Given the description of an element on the screen output the (x, y) to click on. 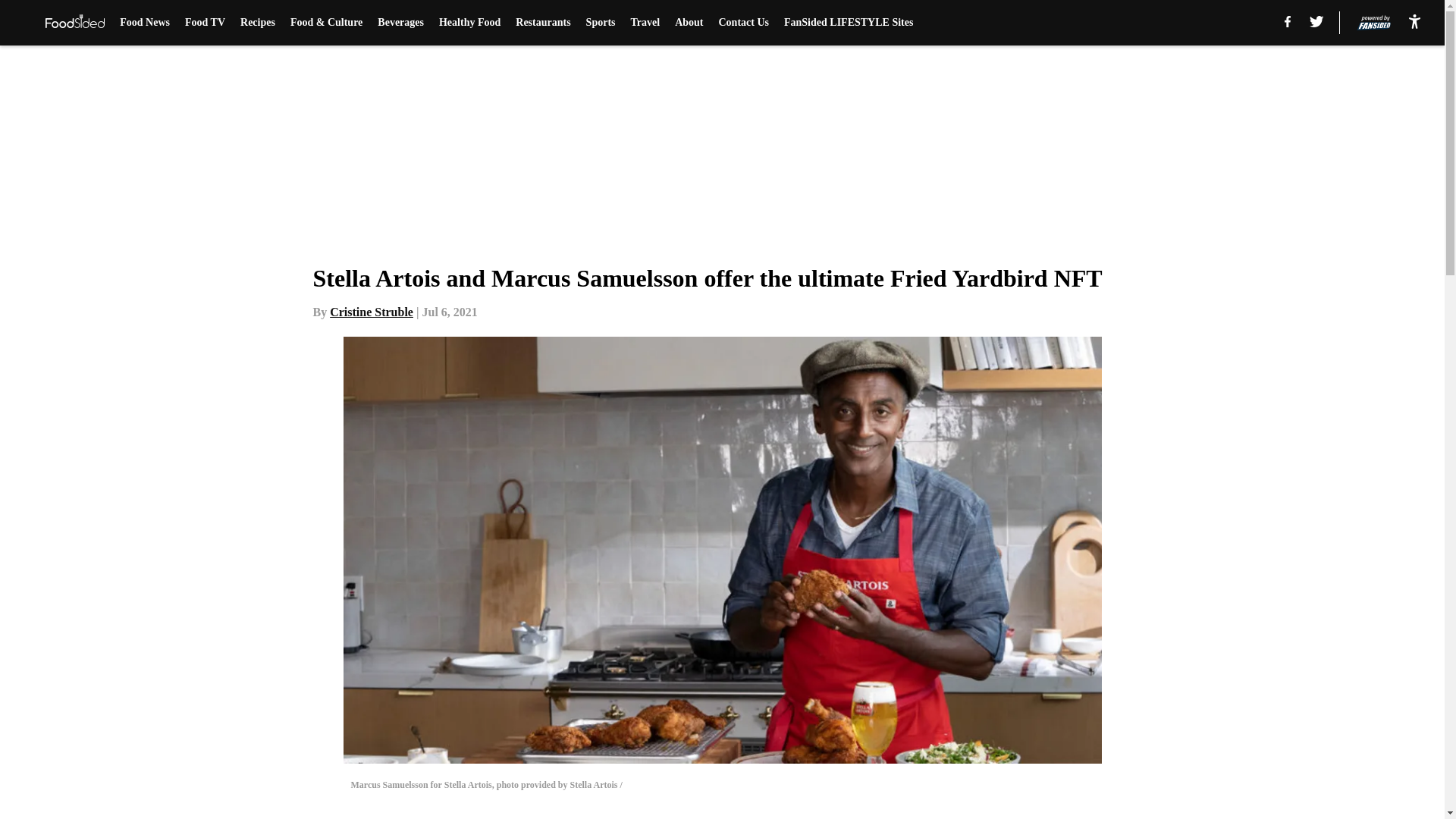
Contact Us (744, 22)
Restaurants (542, 22)
Healthy Food (469, 22)
Sports (600, 22)
About (689, 22)
Beverages (400, 22)
Food News (144, 22)
Recipes (257, 22)
FanSided LIFESTYLE Sites (848, 22)
